Given the description of an element on the screen output the (x, y) to click on. 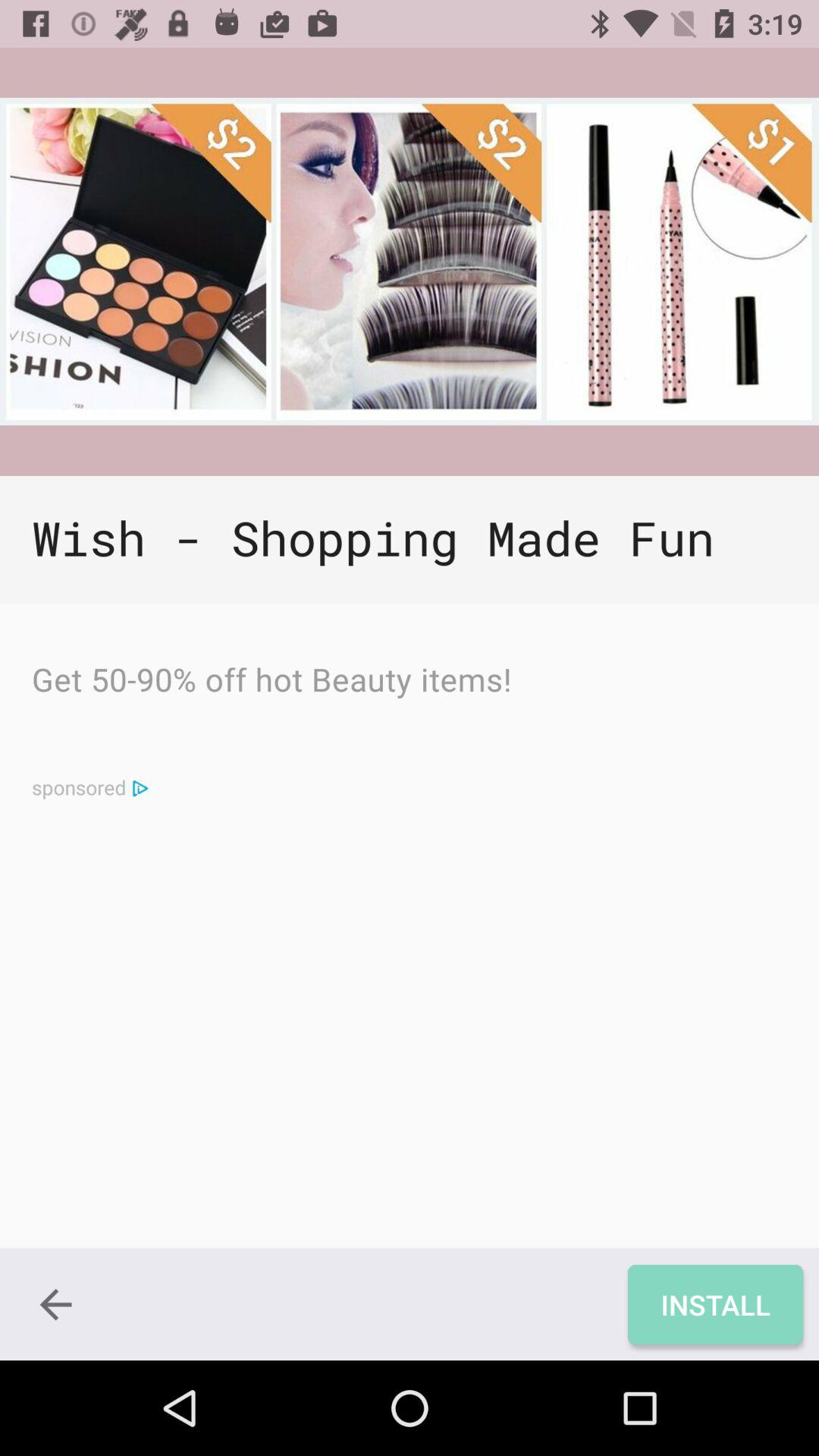
click icon above wish shopping made item (409, 261)
